Given the description of an element on the screen output the (x, y) to click on. 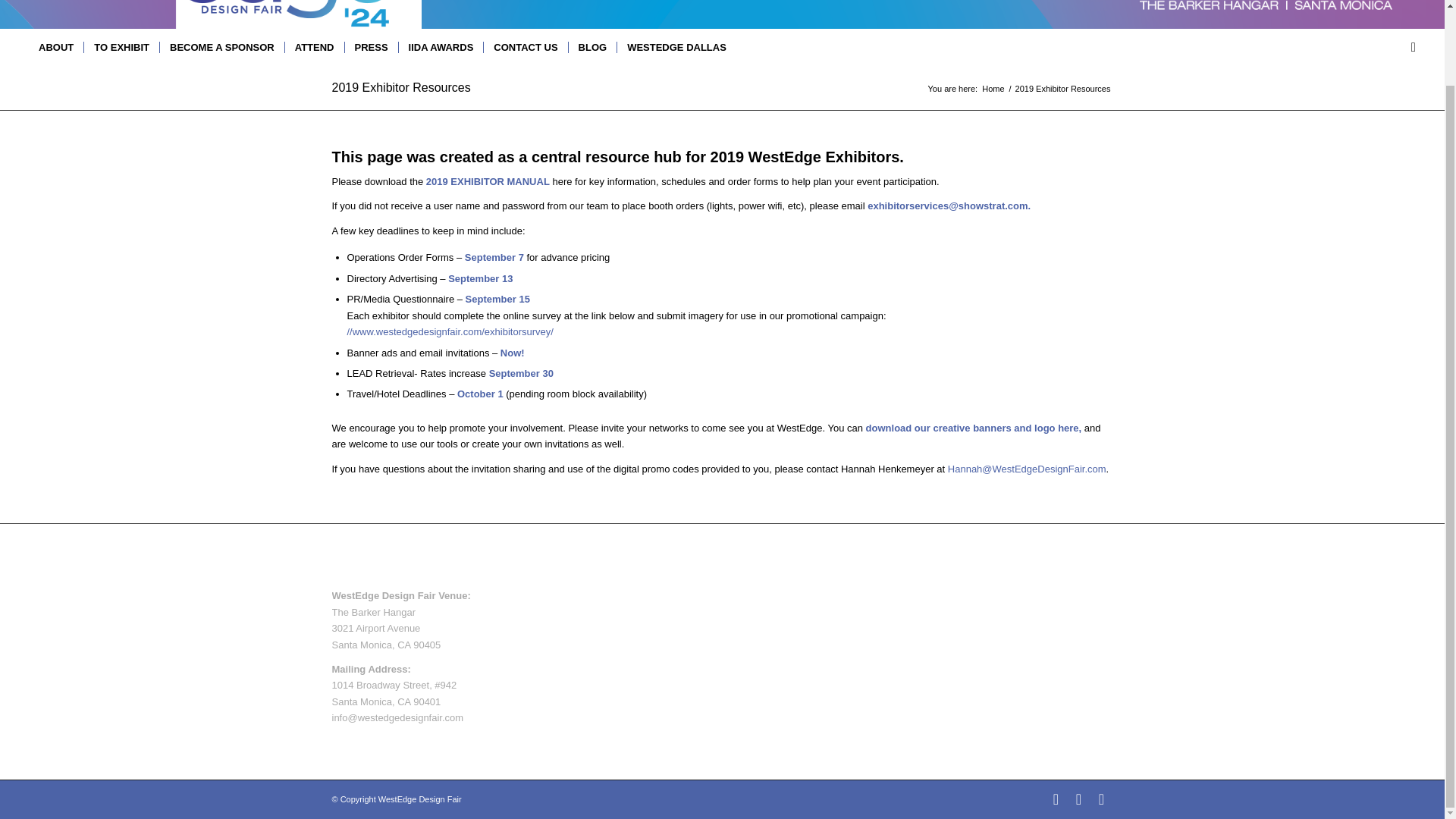
WestEdge Design Fair (992, 88)
Facebook (1056, 798)
website header-banner-date-01 (1206, 6)
website header-banner-logo-01 (195, 14)
Instagram (1101, 798)
Youtube (1078, 798)
Permanent Link: 2019 Exhibitor Resources (400, 87)
